Given the description of an element on the screen output the (x, y) to click on. 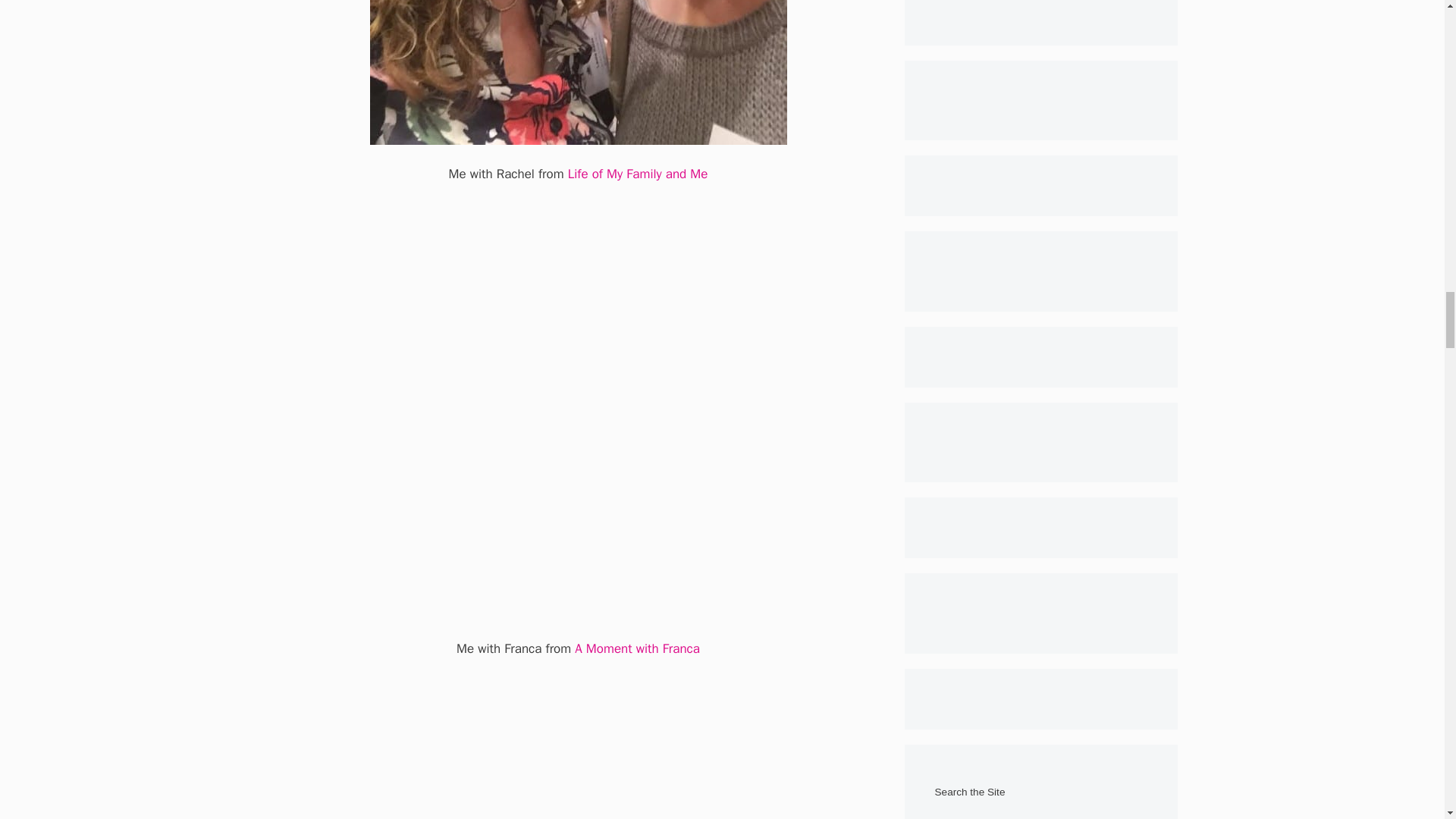
Life of My Family and Me (637, 173)
A Moment with Franca (637, 648)
